Given the description of an element on the screen output the (x, y) to click on. 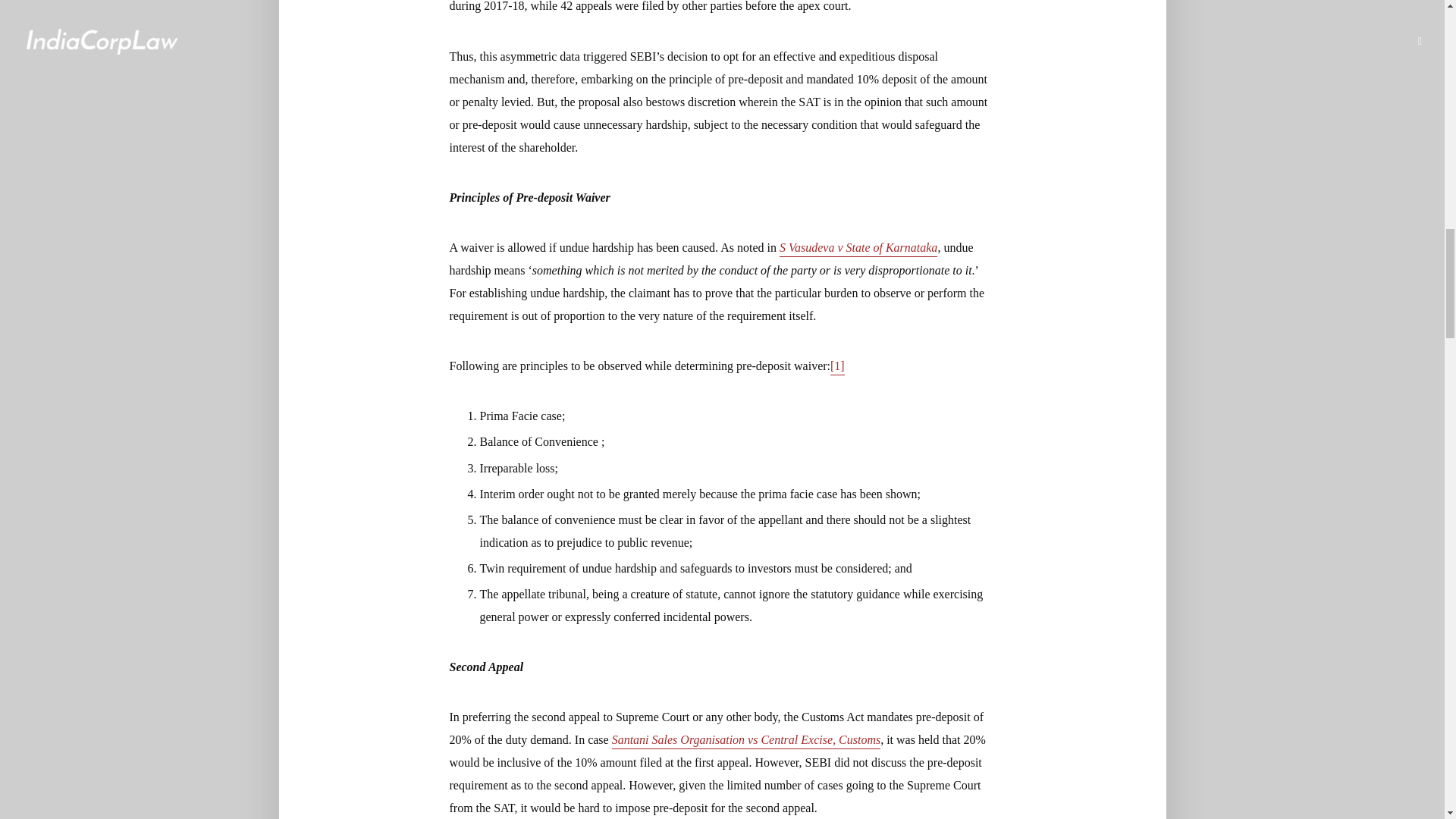
S Vasudeva v State of Karnataka (857, 248)
Santani Sales Organisation vs Central Excise, Customs (745, 741)
